Given the description of an element on the screen output the (x, y) to click on. 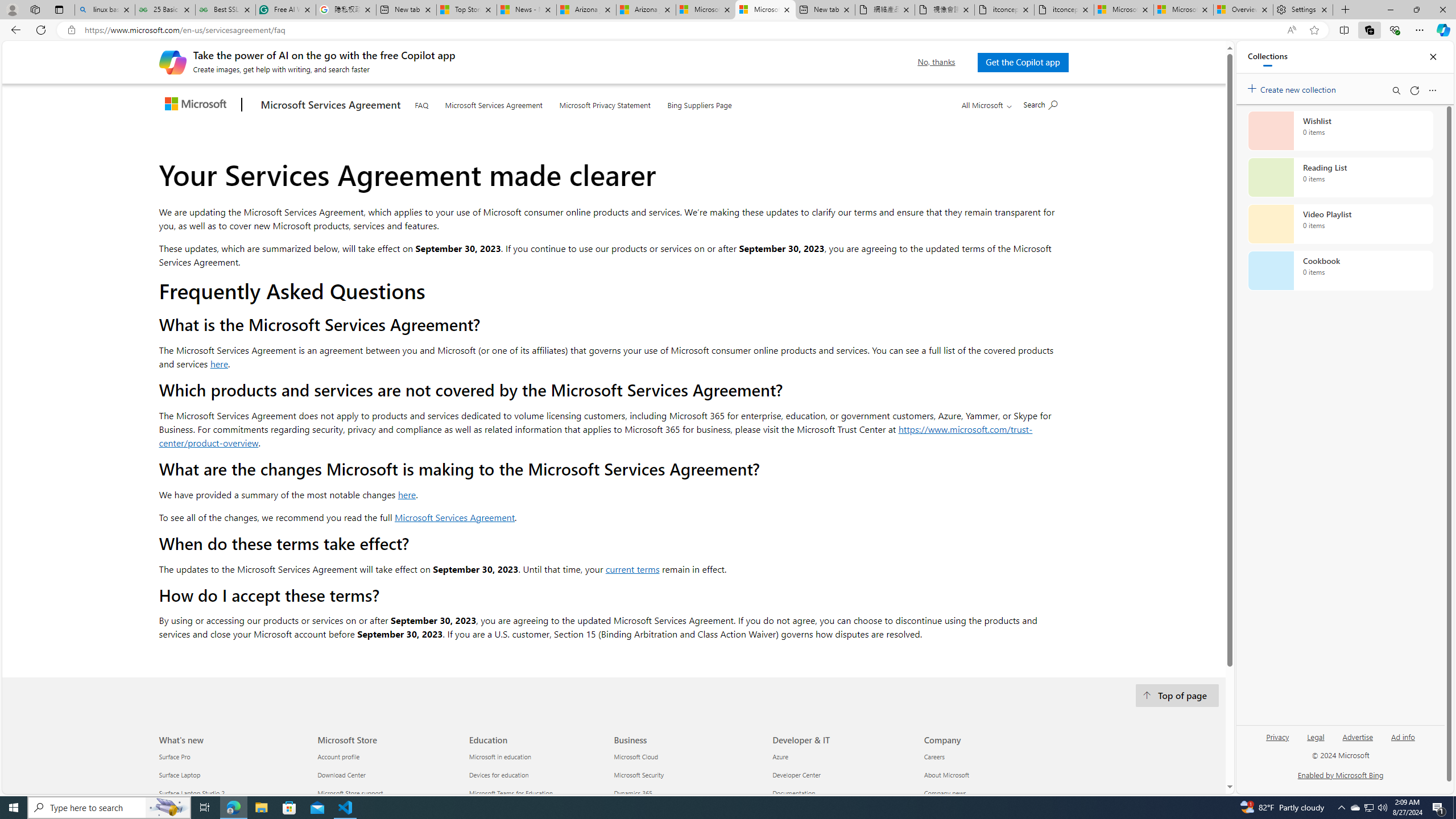
25 Basic Linux Commands For Beginners - GeeksforGeeks (164, 9)
